Given the description of an element on the screen output the (x, y) to click on. 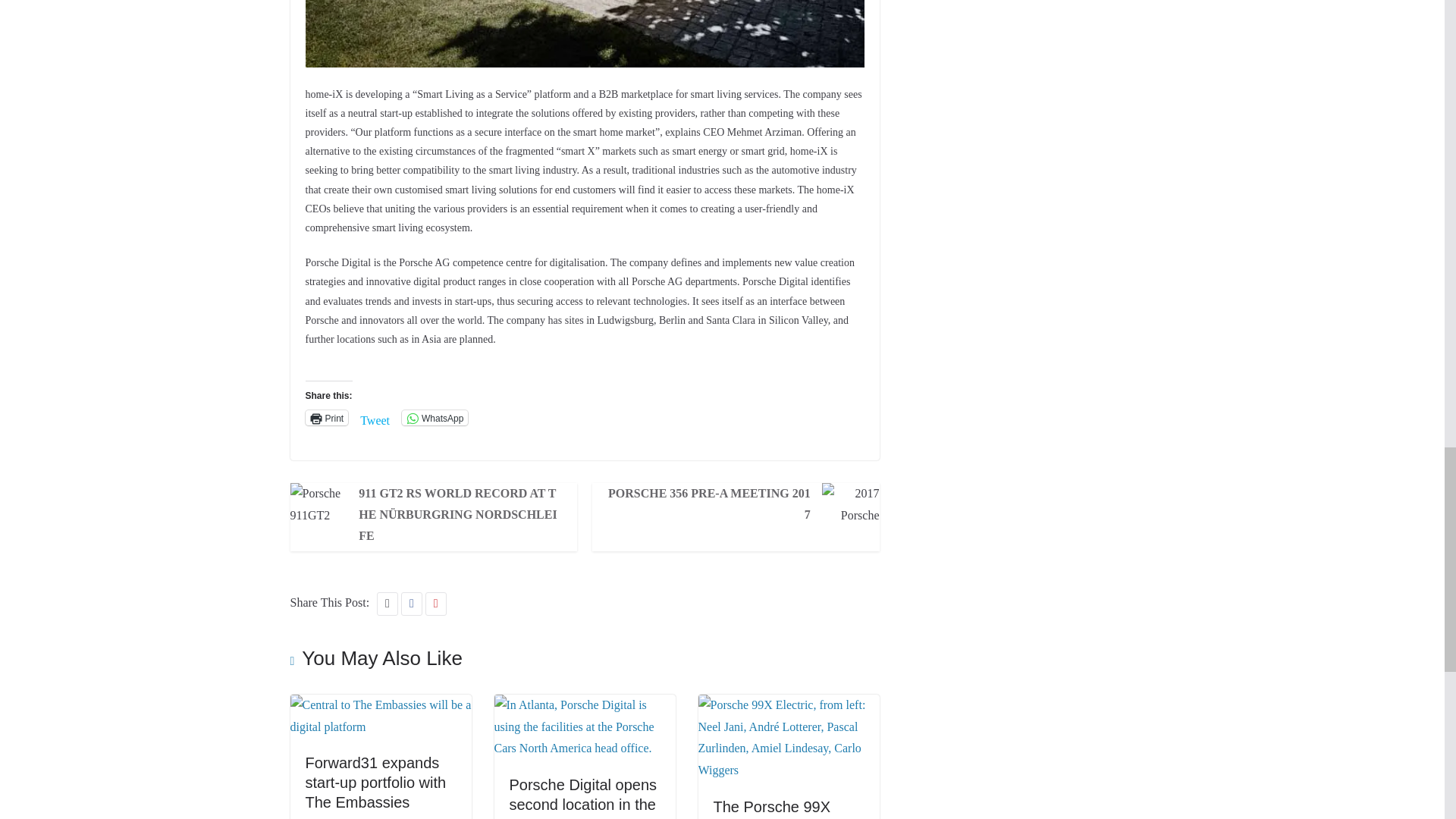
Forward31 expands start-up portfolio with The Embassies (374, 782)
Click to print (325, 417)
Click to share on WhatsApp (434, 417)
Forward31 expands start-up portfolio with The Embassies (379, 704)
Porsche Digital opens second location in the US (585, 704)
